Given the description of an element on the screen output the (x, y) to click on. 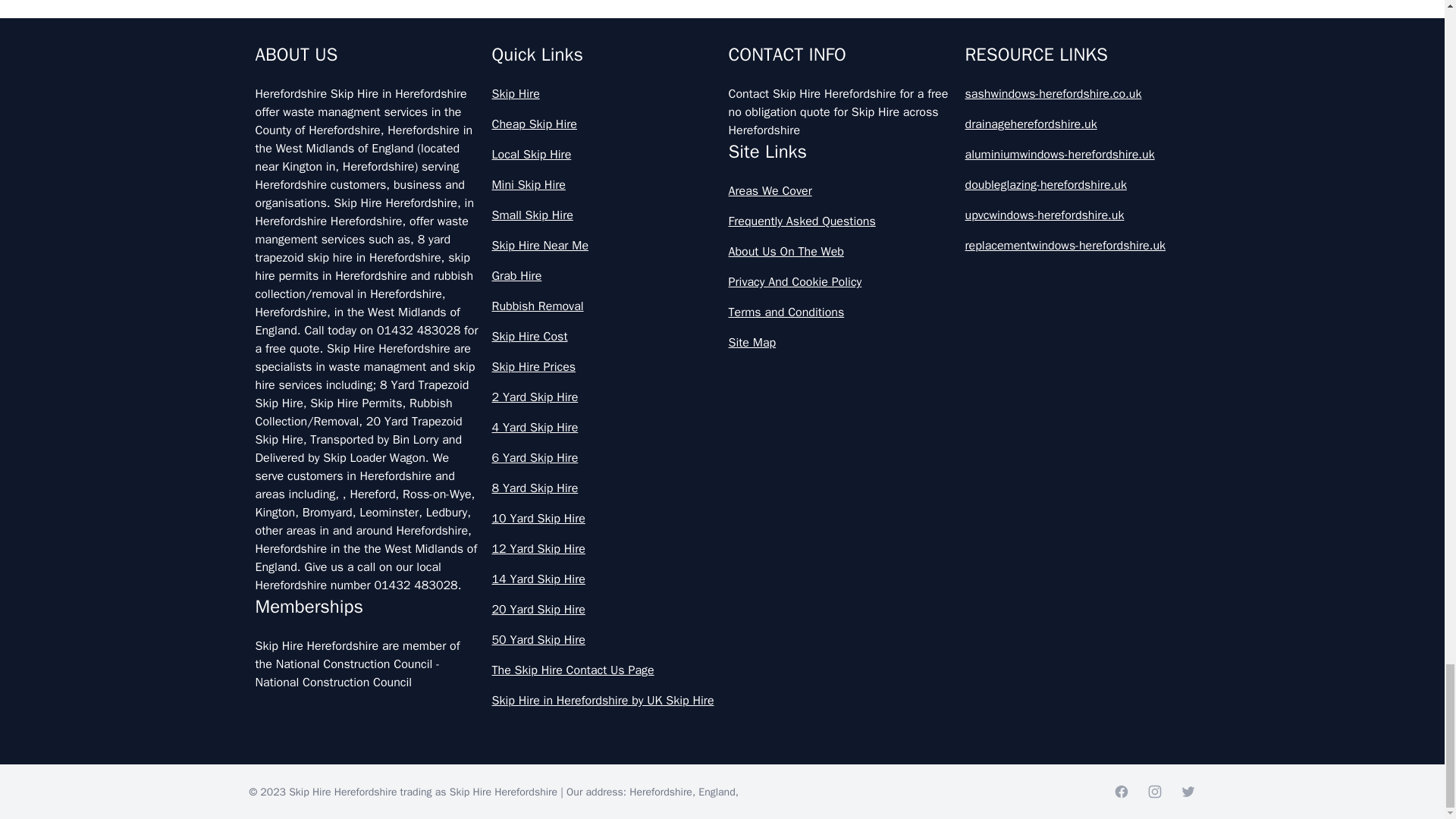
What Is Grab Hire In Herefordshire (722, 133)
How Much To Hire A Grab Lorry In Herefordshire (722, 12)
upvcwindows-herefordshire.uk (1076, 215)
drainageherefordshire.uk (1076, 124)
sashwindows-herefordshire.co.uk (1076, 94)
aluminiumwindows-herefordshire.uk (1076, 154)
replacementwindows-herefordshire.uk (1076, 245)
doubleglazing-herefordshire.uk (1076, 185)
Is Grab Hire Cheaper Than A Skip In Herefordshire (722, 66)
Site Map (840, 342)
